Given the description of an element on the screen output the (x, y) to click on. 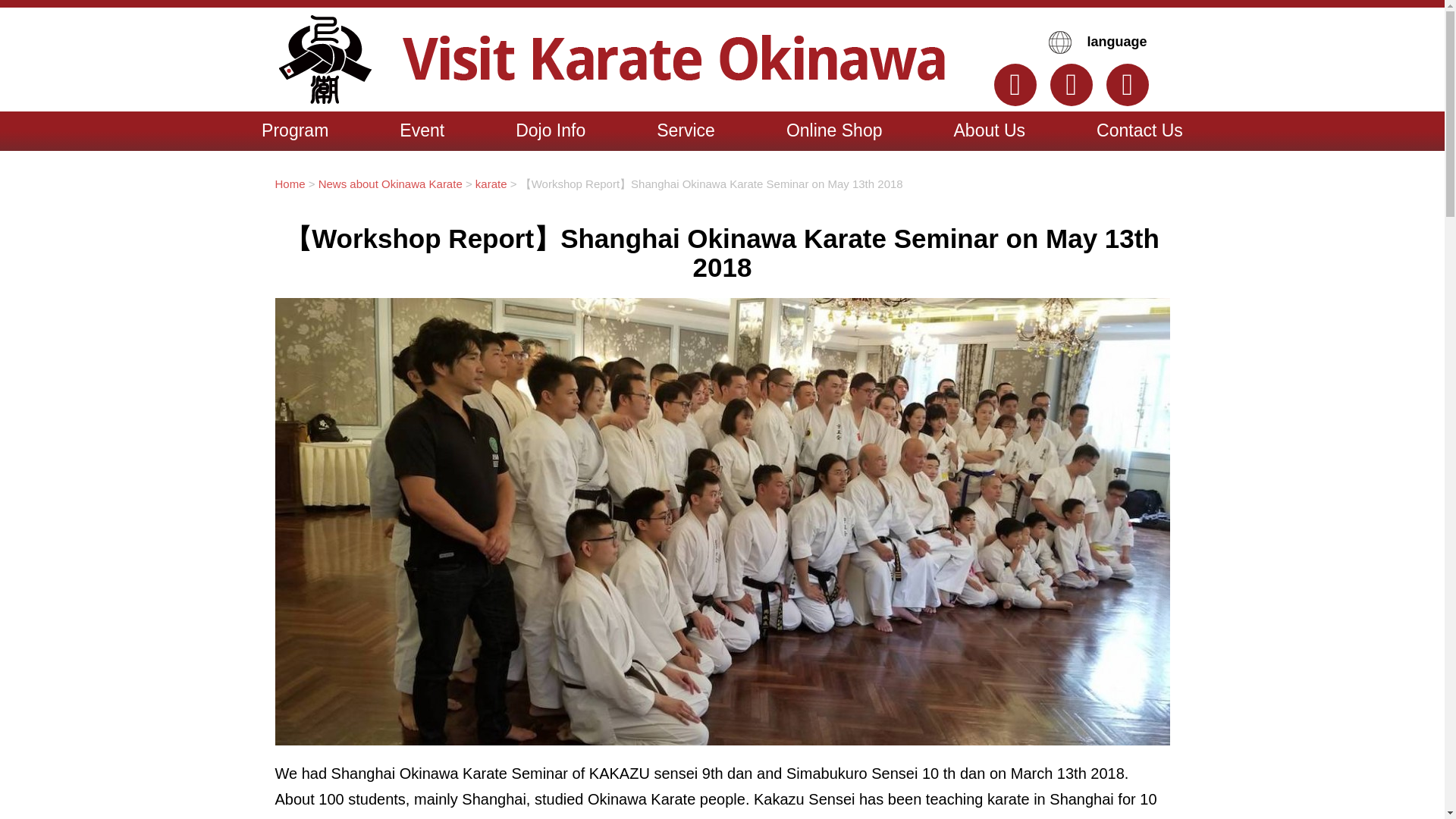
Program (294, 130)
karate (491, 183)
Contact Us (1139, 130)
Event (422, 130)
Service (685, 130)
Online Shop (834, 130)
About Us (989, 130)
language (1101, 42)
Home (289, 183)
Dojo Info (549, 130)
